Given the description of an element on the screen output the (x, y) to click on. 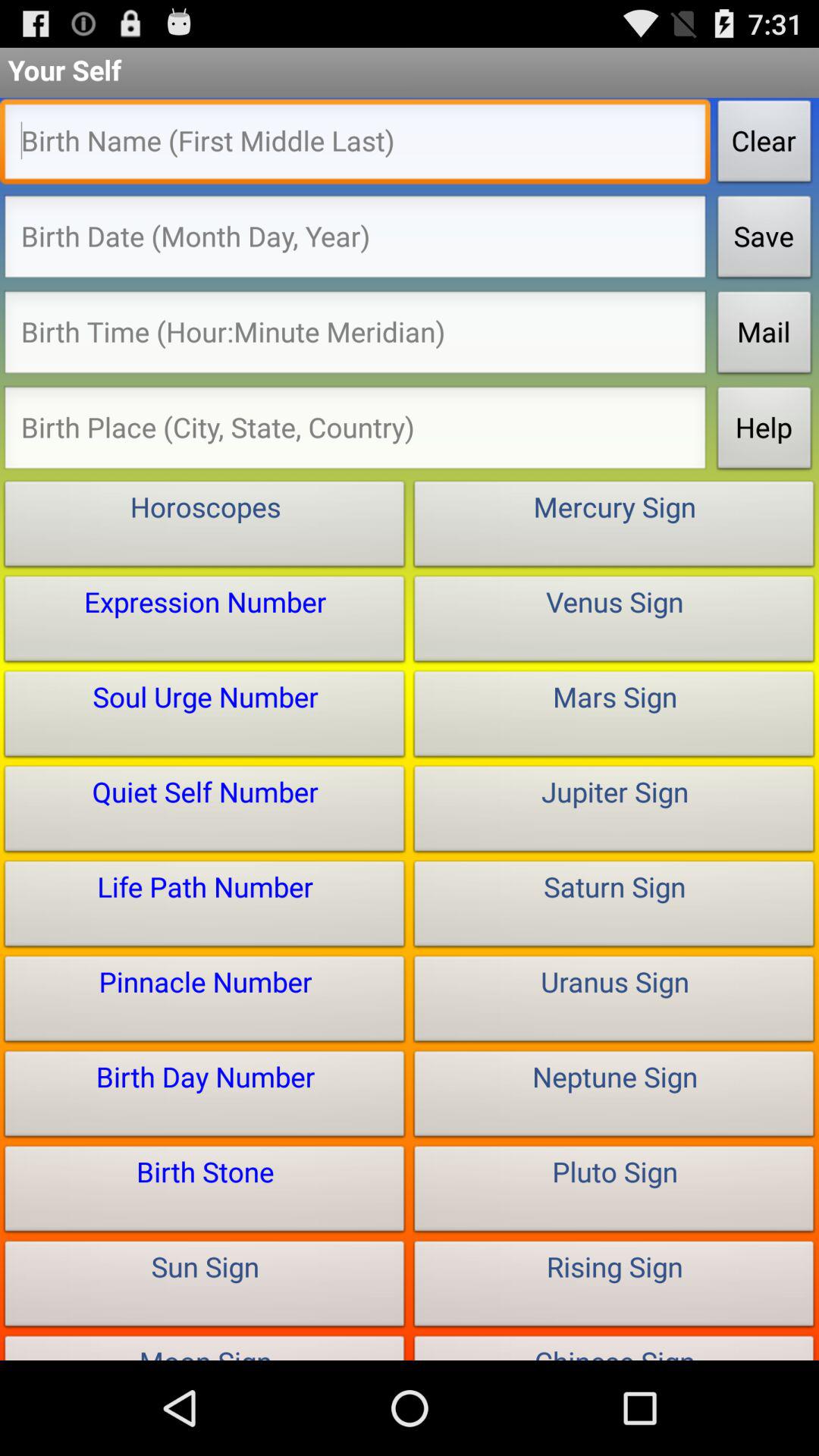
input information (355, 336)
